Given the description of an element on the screen output the (x, y) to click on. 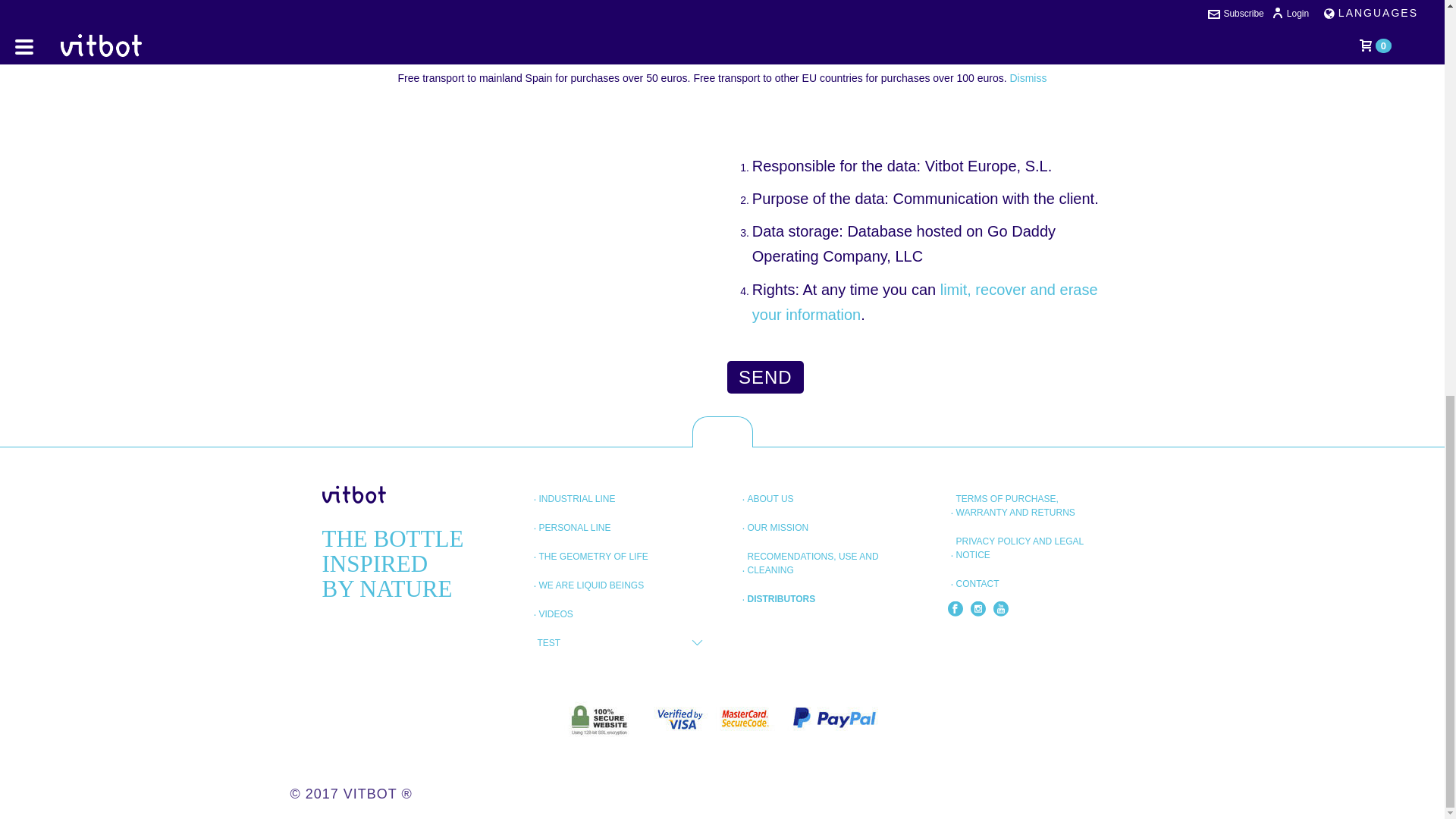
PERSONAL LINE (579, 527)
TERMS OF PURCHASE, WARRANTY AND RETURNS (1027, 505)
WE ARE LIQUID BEINGS (595, 585)
No (363, 4)
CONTACT (981, 583)
limit, recover and erase your information (924, 301)
PRIVACY POLICY AND LEGAL NOTICE (1027, 547)
SEND (764, 377)
TEST (553, 642)
RECOMENDATIONS, USE AND CLEANING (817, 563)
